Given the description of an element on the screen output the (x, y) to click on. 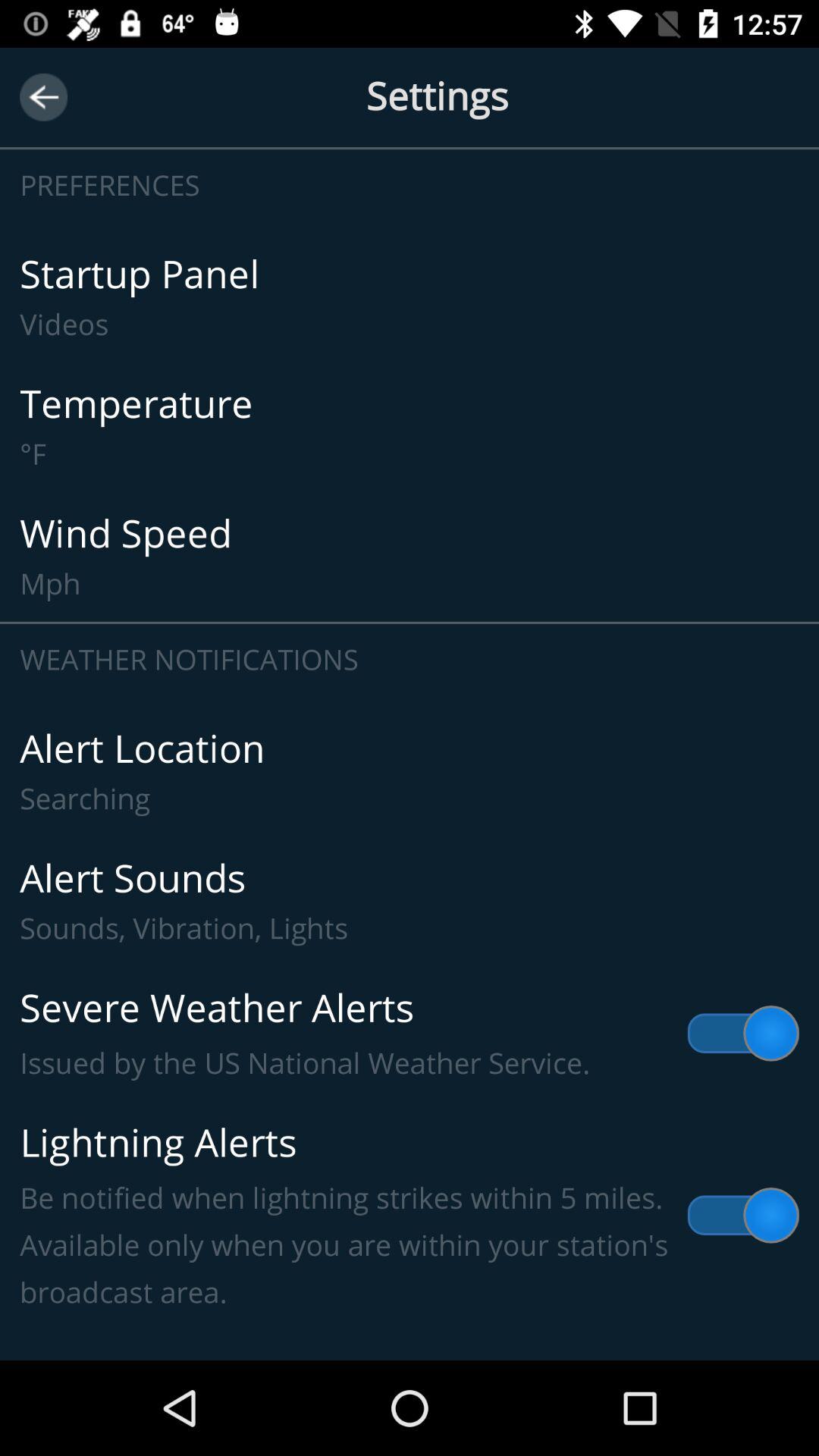
jump until startup panel
videos icon (409, 297)
